Given the description of an element on the screen output the (x, y) to click on. 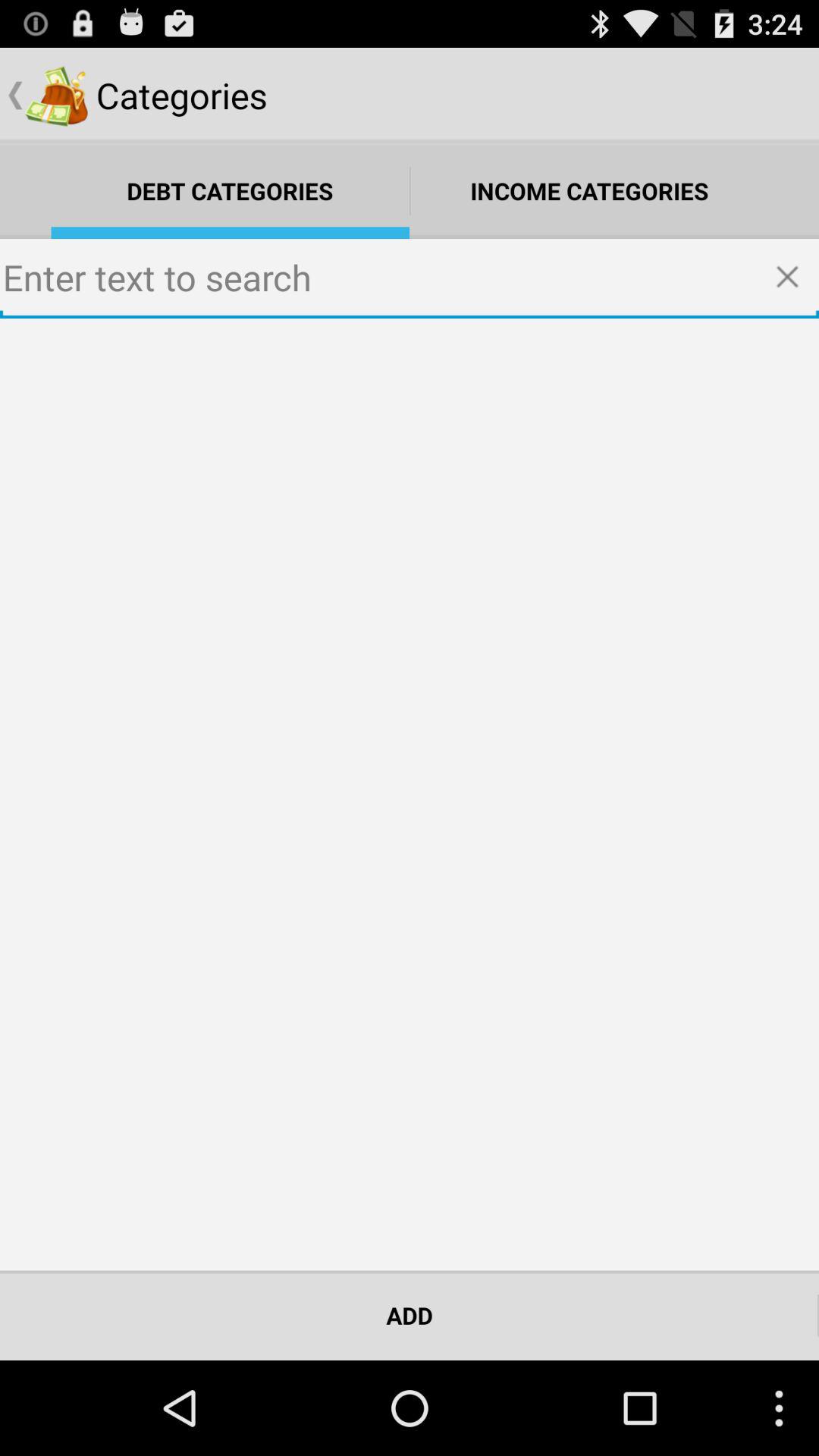
flip to add (409, 1315)
